Given the description of an element on the screen output the (x, y) to click on. 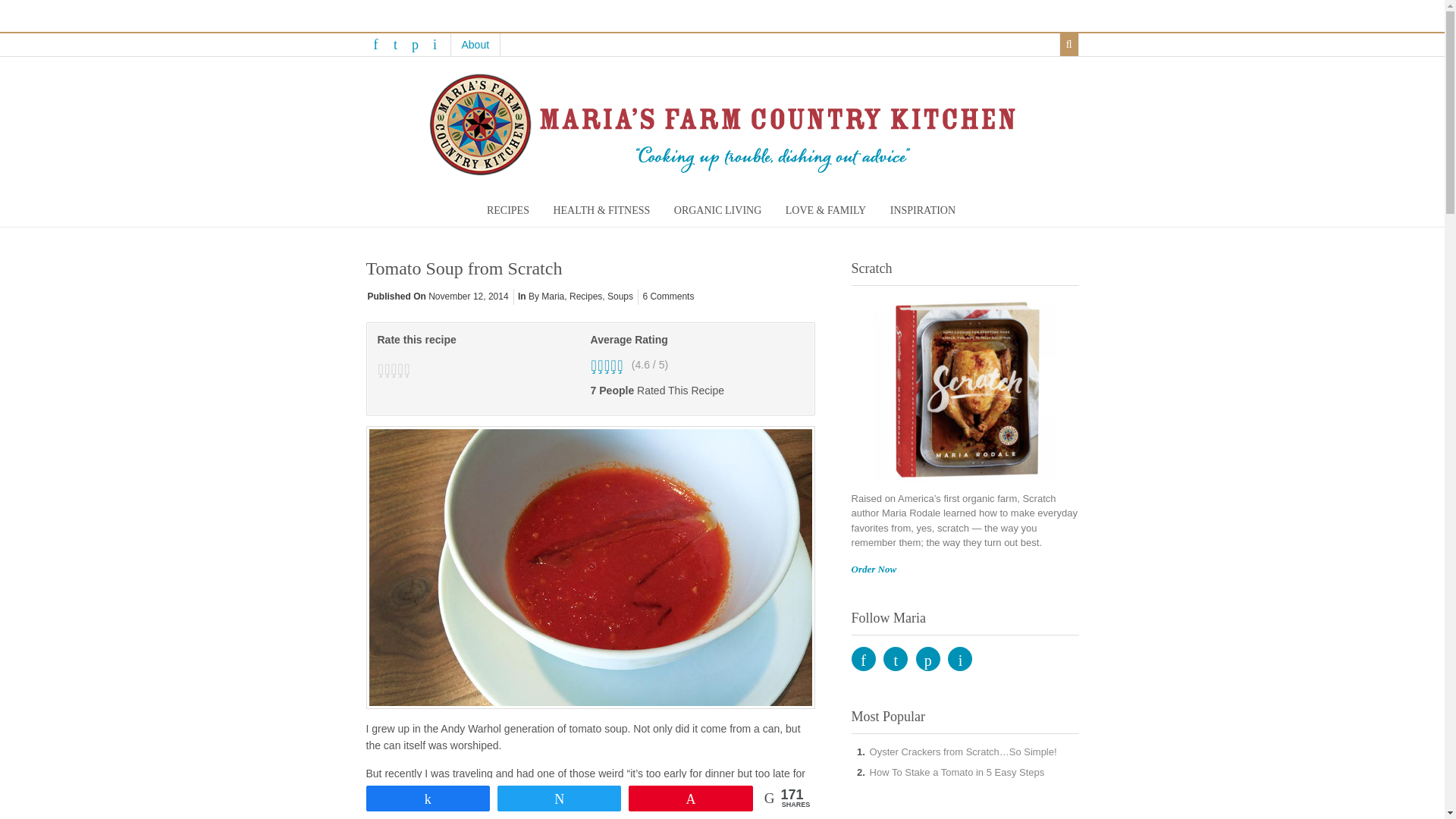
3 stars (393, 369)
Recipes (585, 296)
Facebook (375, 43)
1 star (380, 369)
Soups (620, 296)
6 Comments (668, 296)
The Kitchen (753, 789)
Instagram (434, 43)
ORGANIC LIVING (718, 210)
Pinterest (414, 43)
Twitter (394, 43)
2 stars (387, 369)
RECIPES (508, 210)
About (474, 44)
INSPIRATION (922, 210)
